Given the description of an element on the screen output the (x, y) to click on. 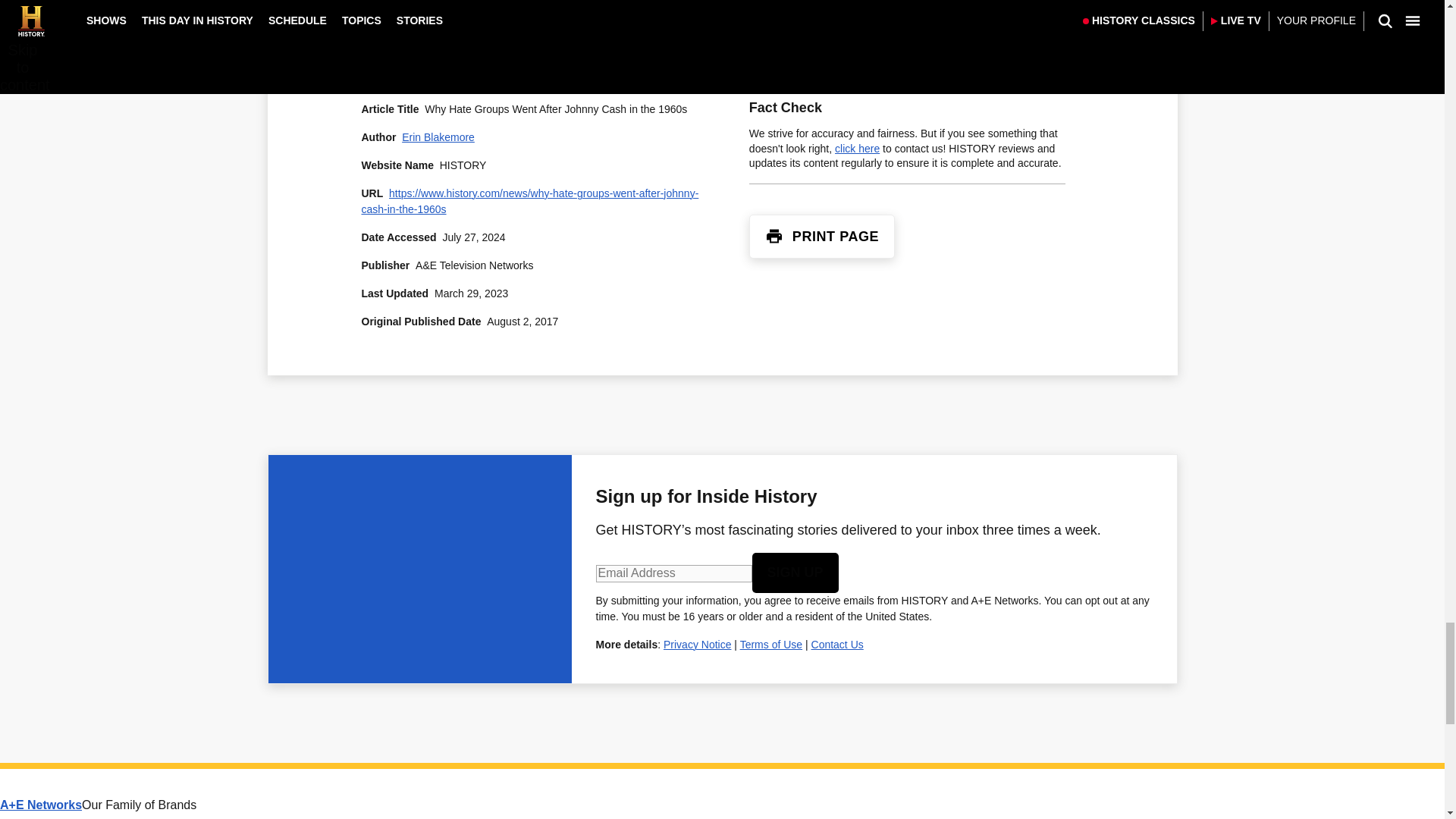
Print (774, 236)
